Given the description of an element on the screen output the (x, y) to click on. 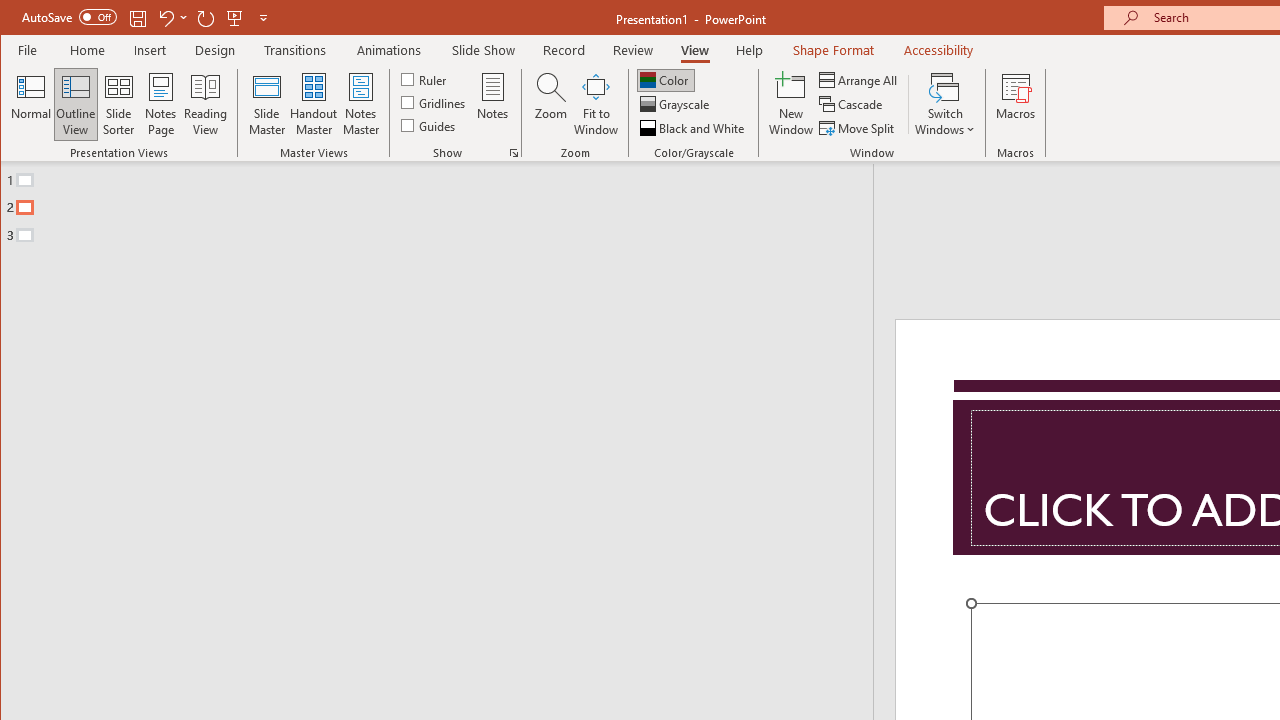
Black and White (694, 127)
Color (666, 80)
Insert (150, 50)
Zoom... (550, 104)
Animations (388, 50)
Handout Master (314, 104)
Transitions (294, 50)
Review (632, 50)
Slide Master (266, 104)
File Tab (28, 49)
Grayscale (676, 103)
Notes Master (360, 104)
From Beginning (235, 17)
Redo (206, 17)
Outline (445, 203)
